Given the description of an element on the screen output the (x, y) to click on. 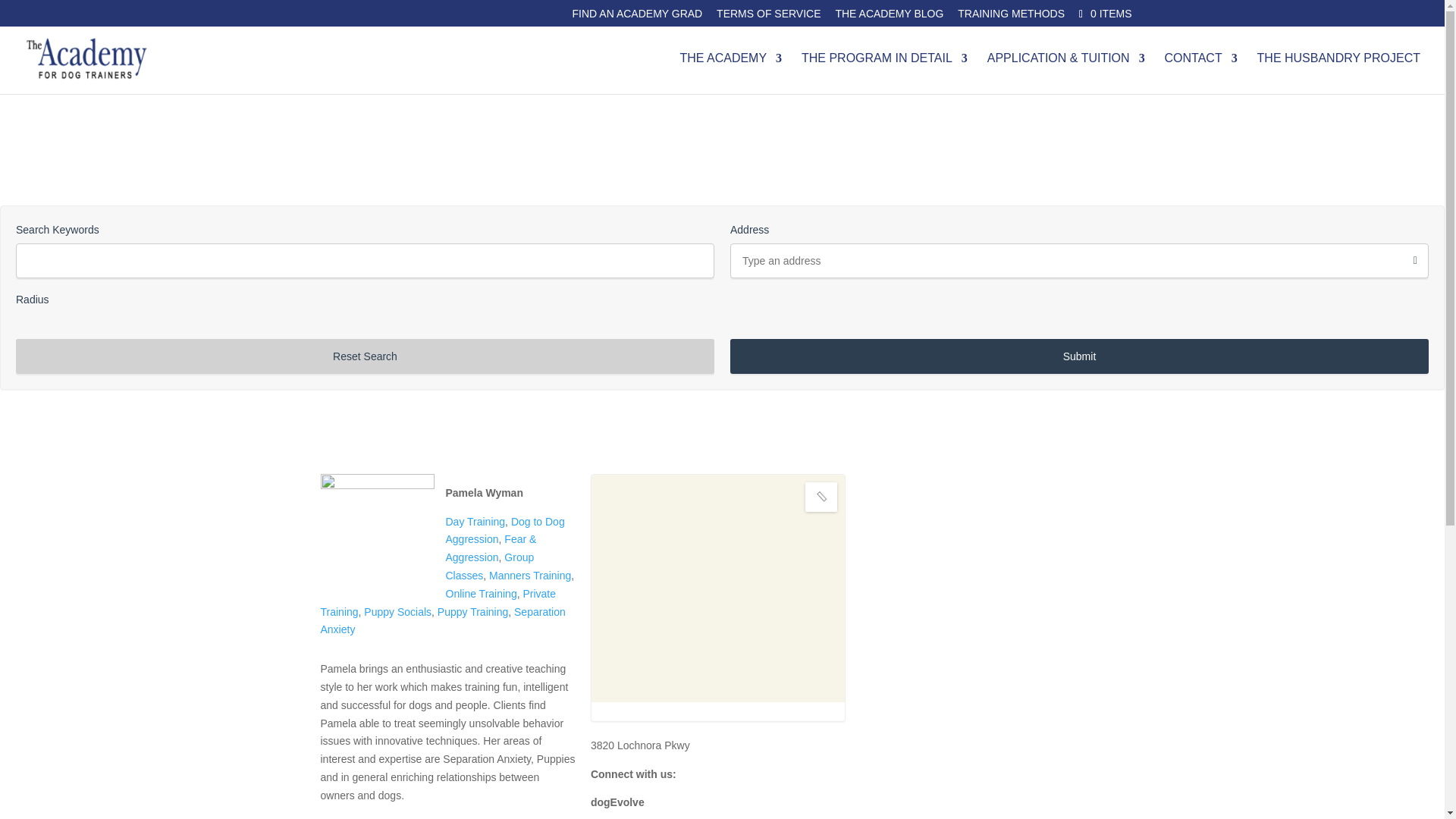
View all posts filed under Private Training (438, 603)
View all posts filed under Online Training (480, 593)
THE ACADEMY BLOG (888, 16)
View all posts filed under Day Training (475, 521)
THE PROGRAM IN DETAIL (885, 73)
Puppy Socials (397, 612)
View all posts filed under Separation Anxiety (442, 621)
Submit (1079, 356)
0 ITEMS (1103, 13)
FIND AN ACADEMY GRAD (637, 16)
